Given the description of an element on the screen output the (x, y) to click on. 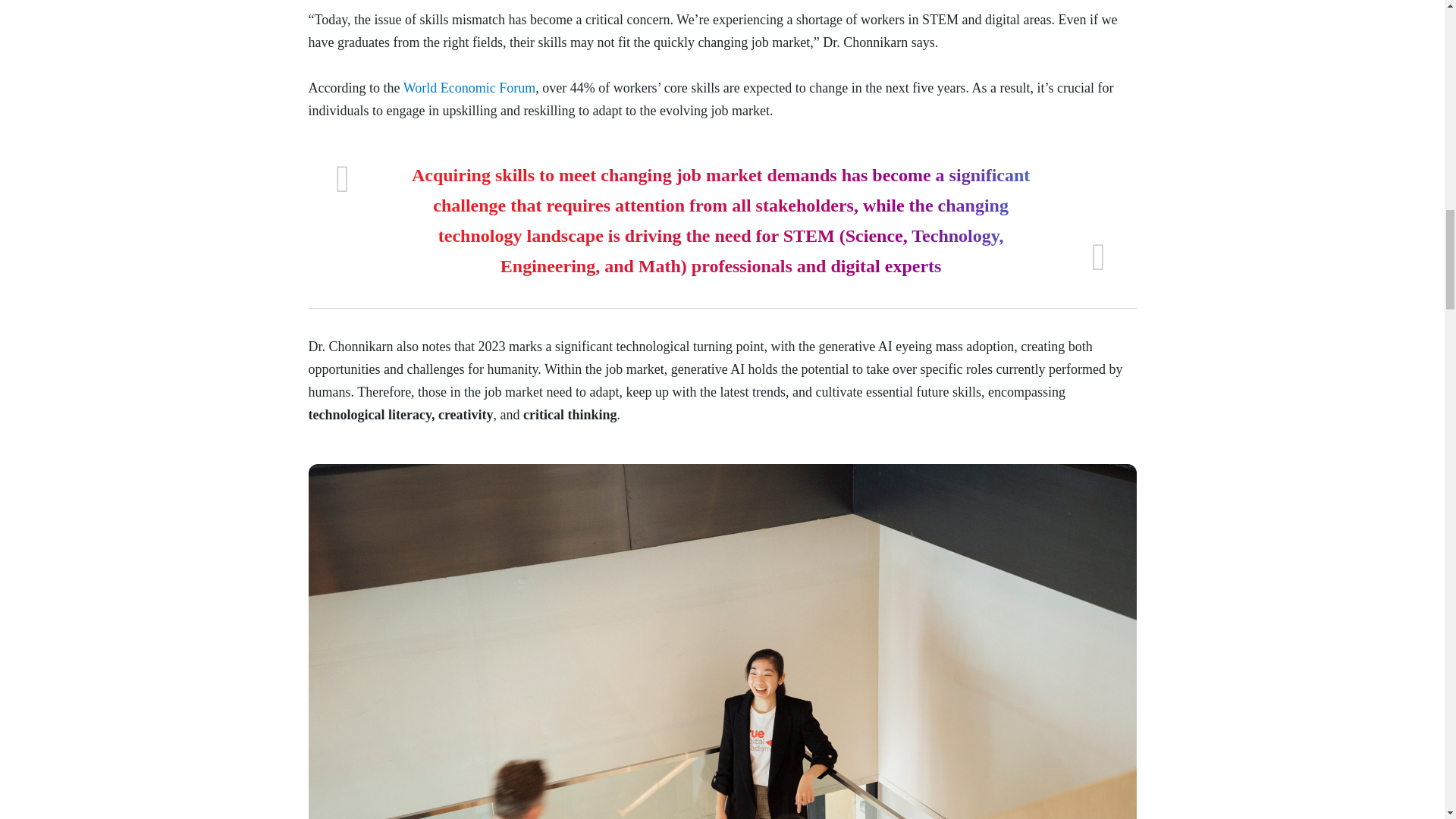
World Economic Forum (466, 87)
